Given the description of an element on the screen output the (x, y) to click on. 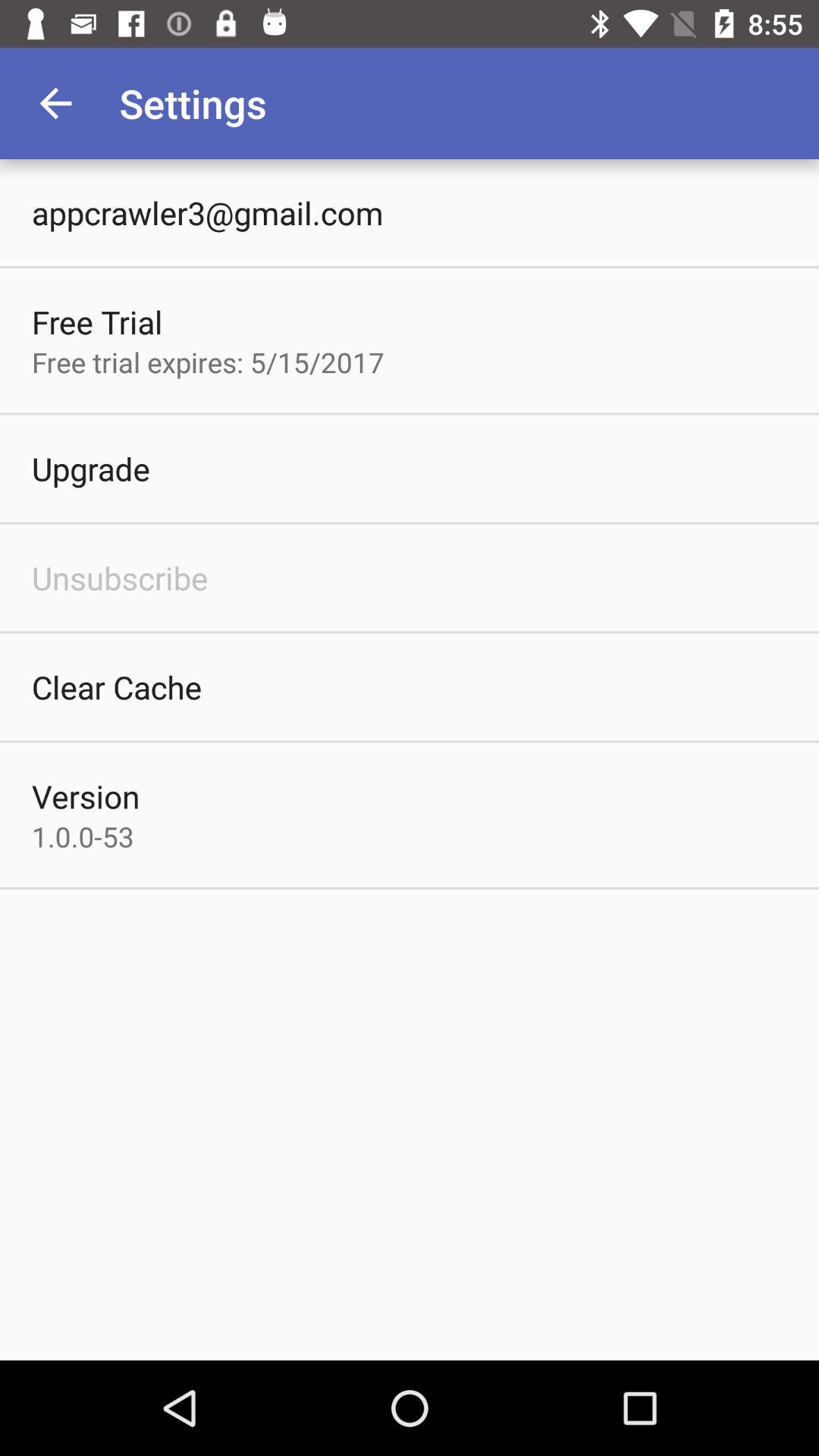
turn off item below the version (82, 836)
